Given the description of an element on the screen output the (x, y) to click on. 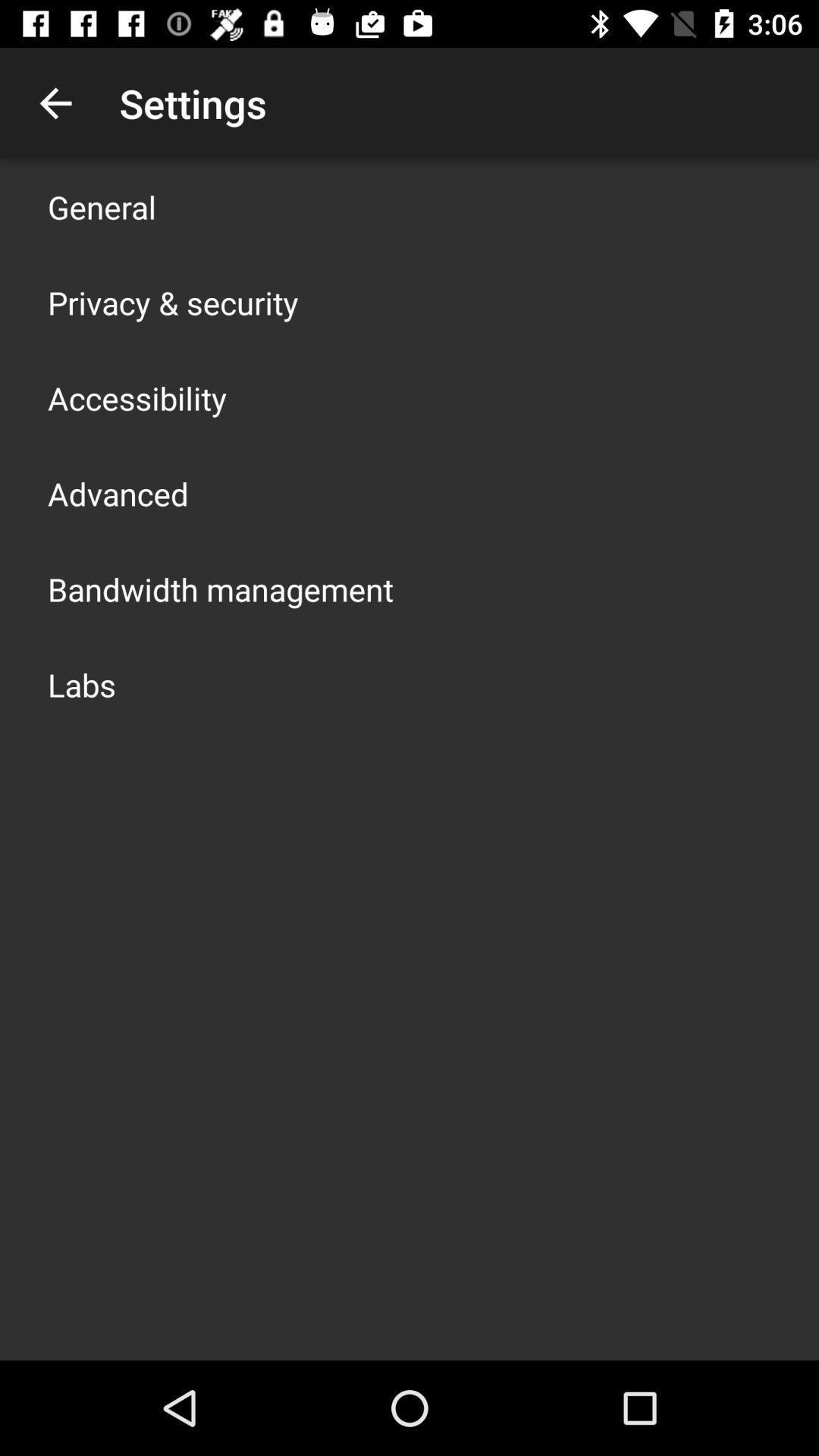
tap the accessibility icon (136, 397)
